Given the description of an element on the screen output the (x, y) to click on. 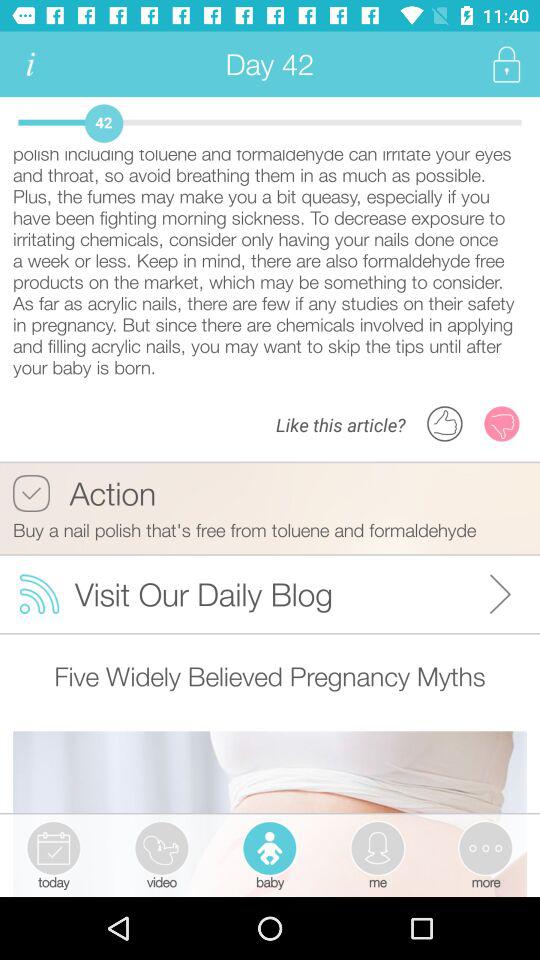
like this article (445, 423)
